Given the description of an element on the screen output the (x, y) to click on. 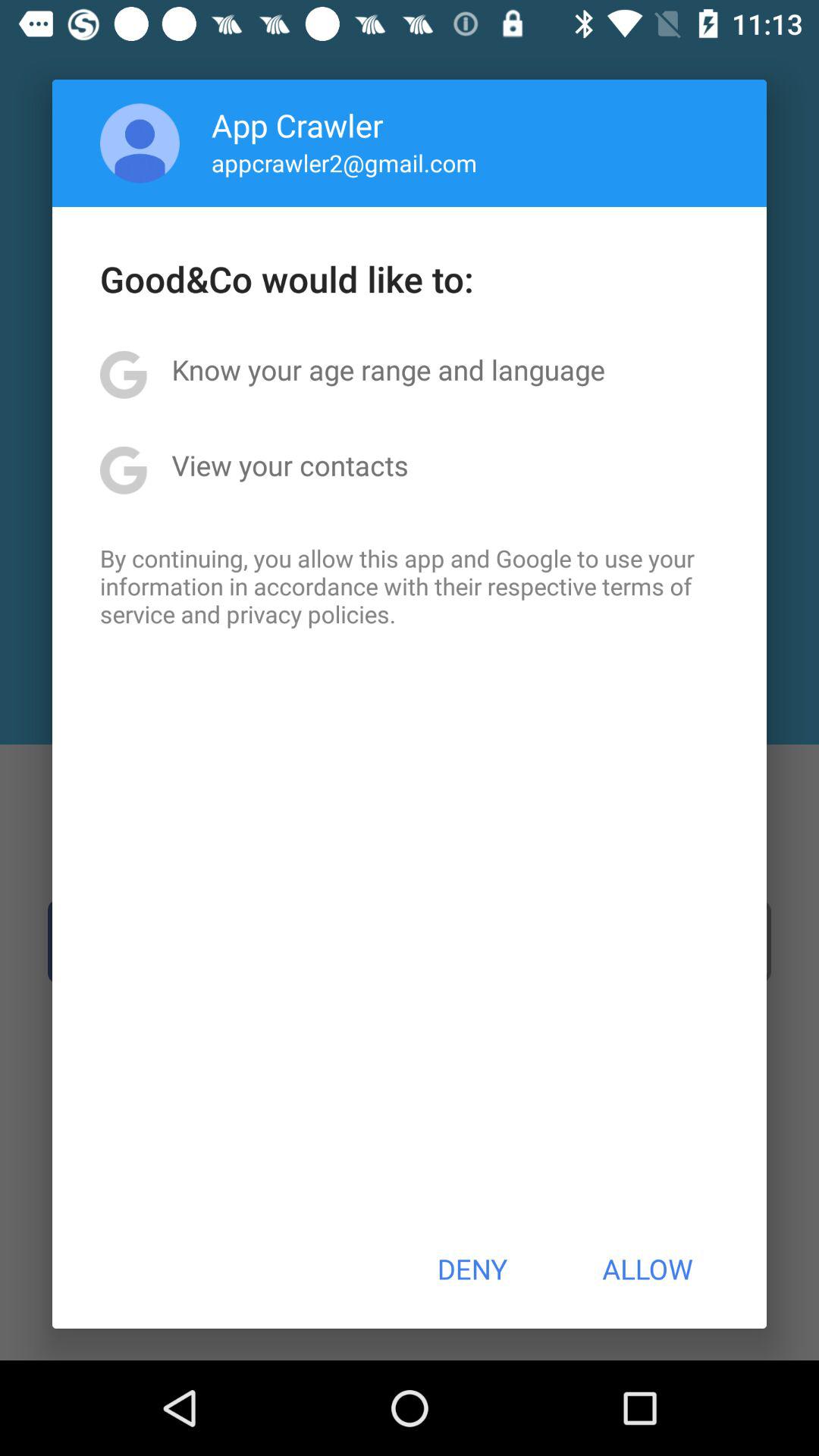
tap app below the app crawler (344, 162)
